Given the description of an element on the screen output the (x, y) to click on. 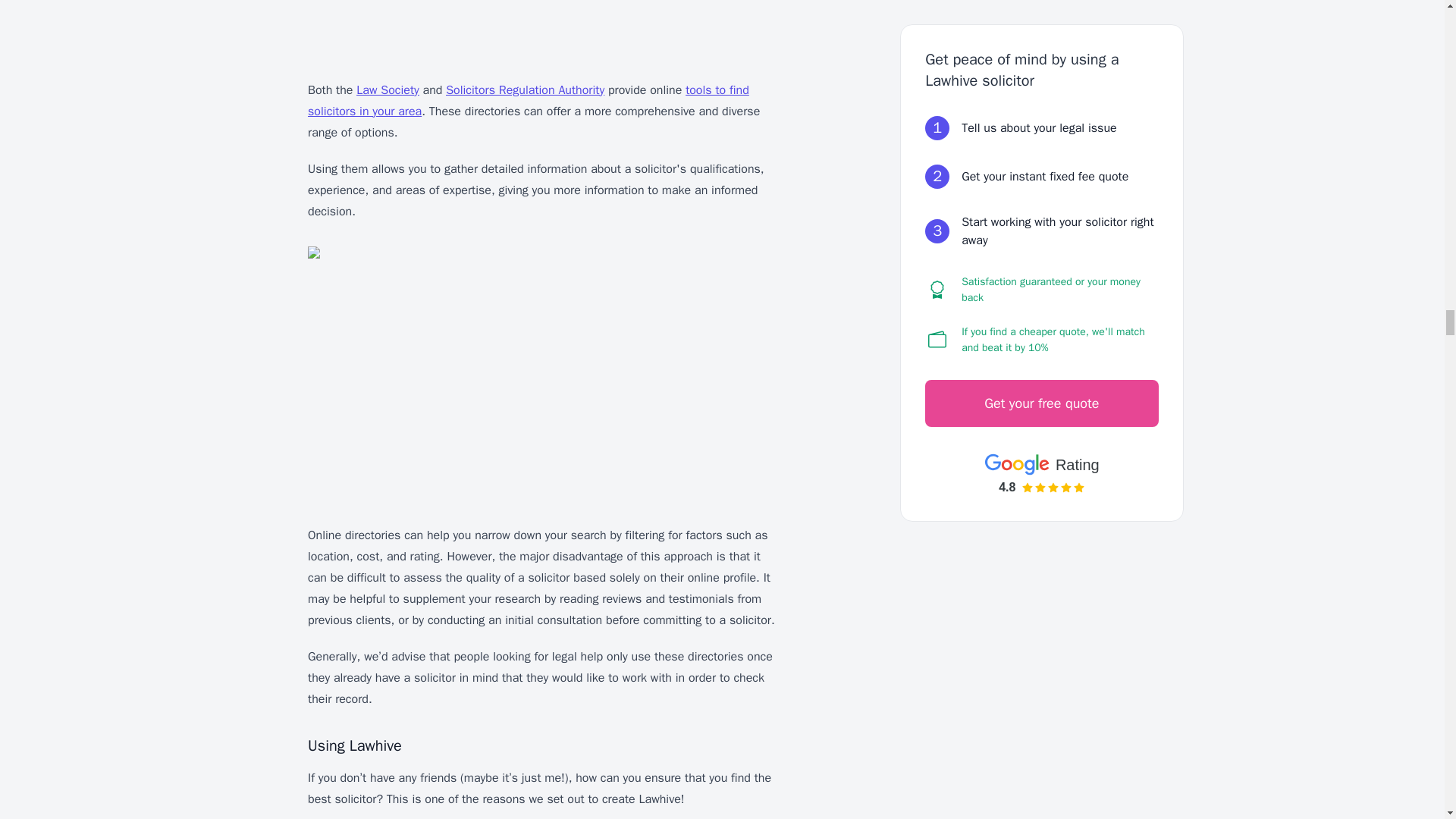
Solicitors Regulation Authority (524, 89)
tools to find solicitors in your area (528, 100)
Law Society (387, 89)
